Given the description of an element on the screen output the (x, y) to click on. 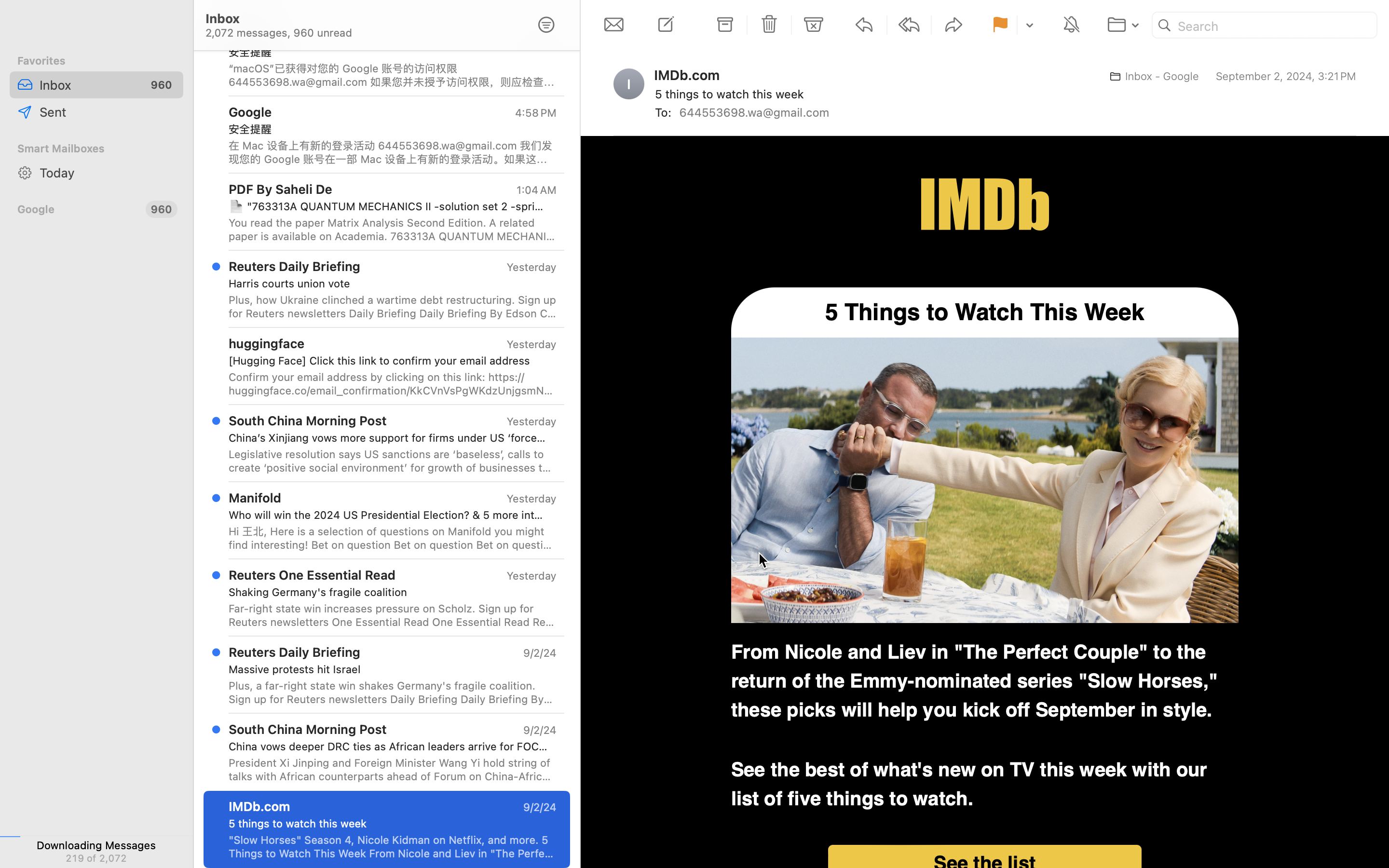
0.0002546504013775374 Element type: AXValueIndicator (573, 63)
Yesterday Element type: AXStaticText (531, 344)
China vows deeper DRC ties as African leaders arrive for FOCAC meetings Element type: AXStaticText (388, 746)
9/2/24 Element type: AXStaticText (538, 729)
[Hugging Face] Click this link to confirm your email address Element type: AXStaticText (388, 360)
